Given the description of an element on the screen output the (x, y) to click on. 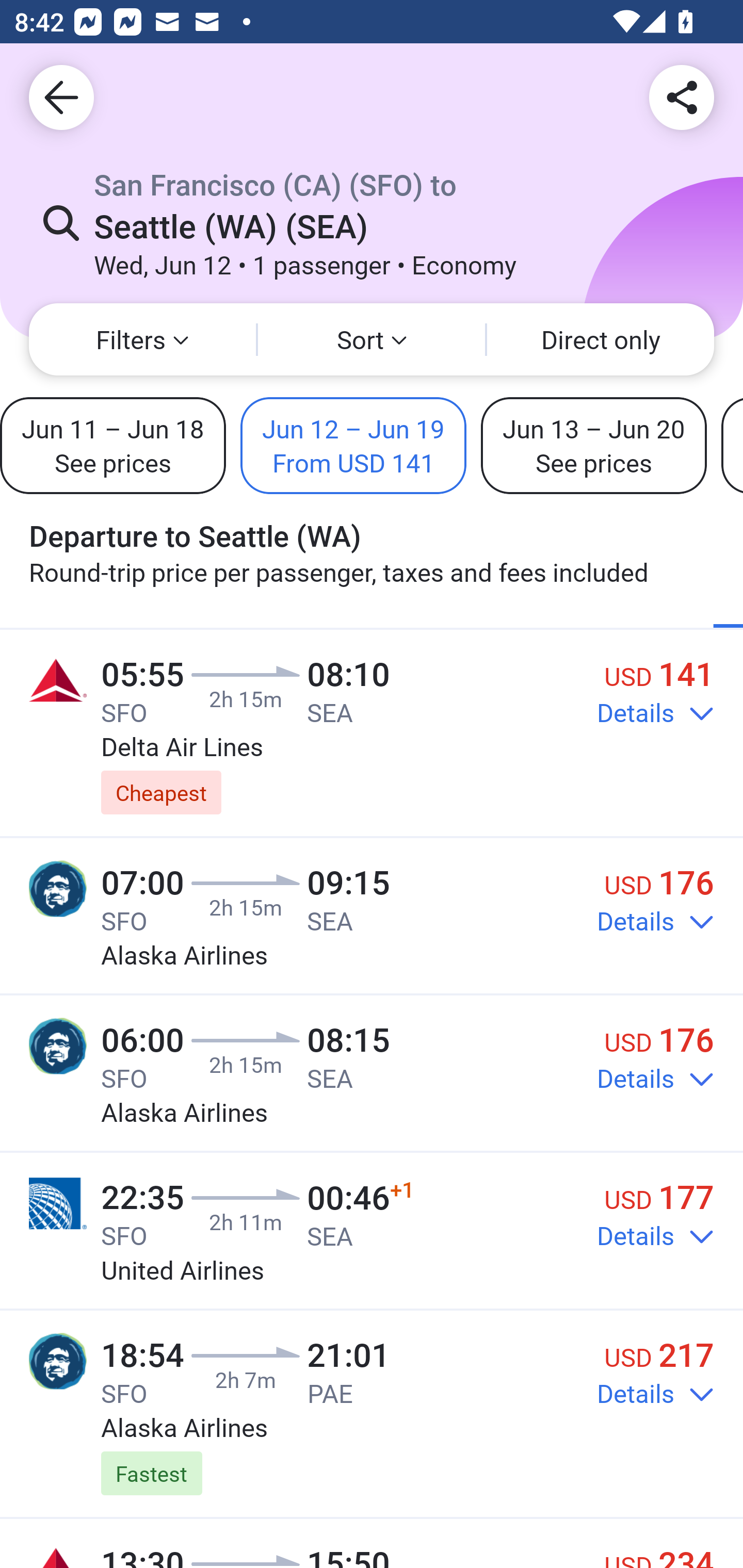
Filters (141, 339)
Sort (371, 339)
Direct only (600, 339)
Jun 11 – Jun 18 See prices (112, 444)
Jun 12 – Jun 19 From USD 141 (353, 444)
Jun 13 – Jun 20 See prices (593, 444)
